Given the description of an element on the screen output the (x, y) to click on. 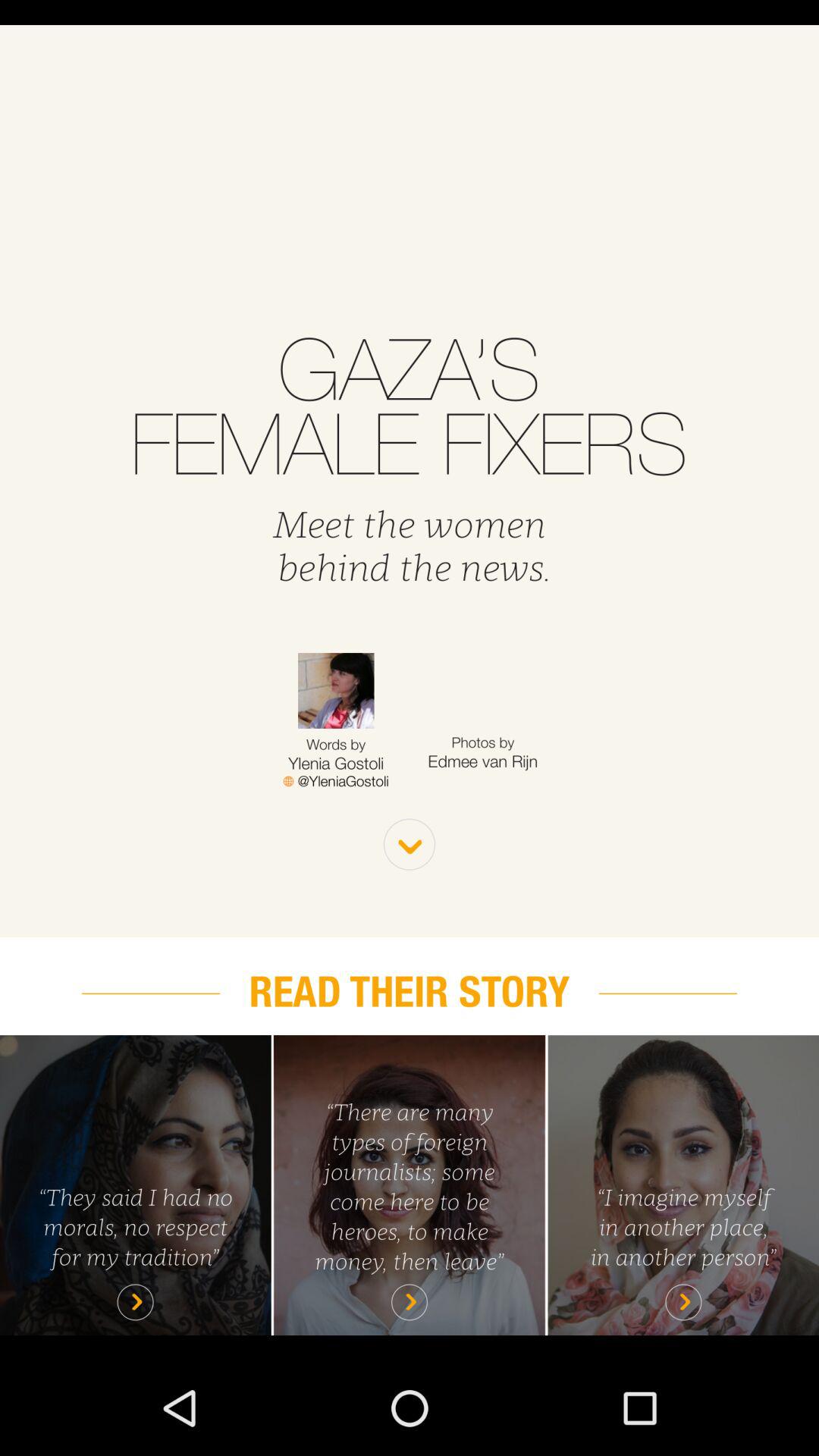
check external social media link (335, 781)
